Given the description of an element on the screen output the (x, y) to click on. 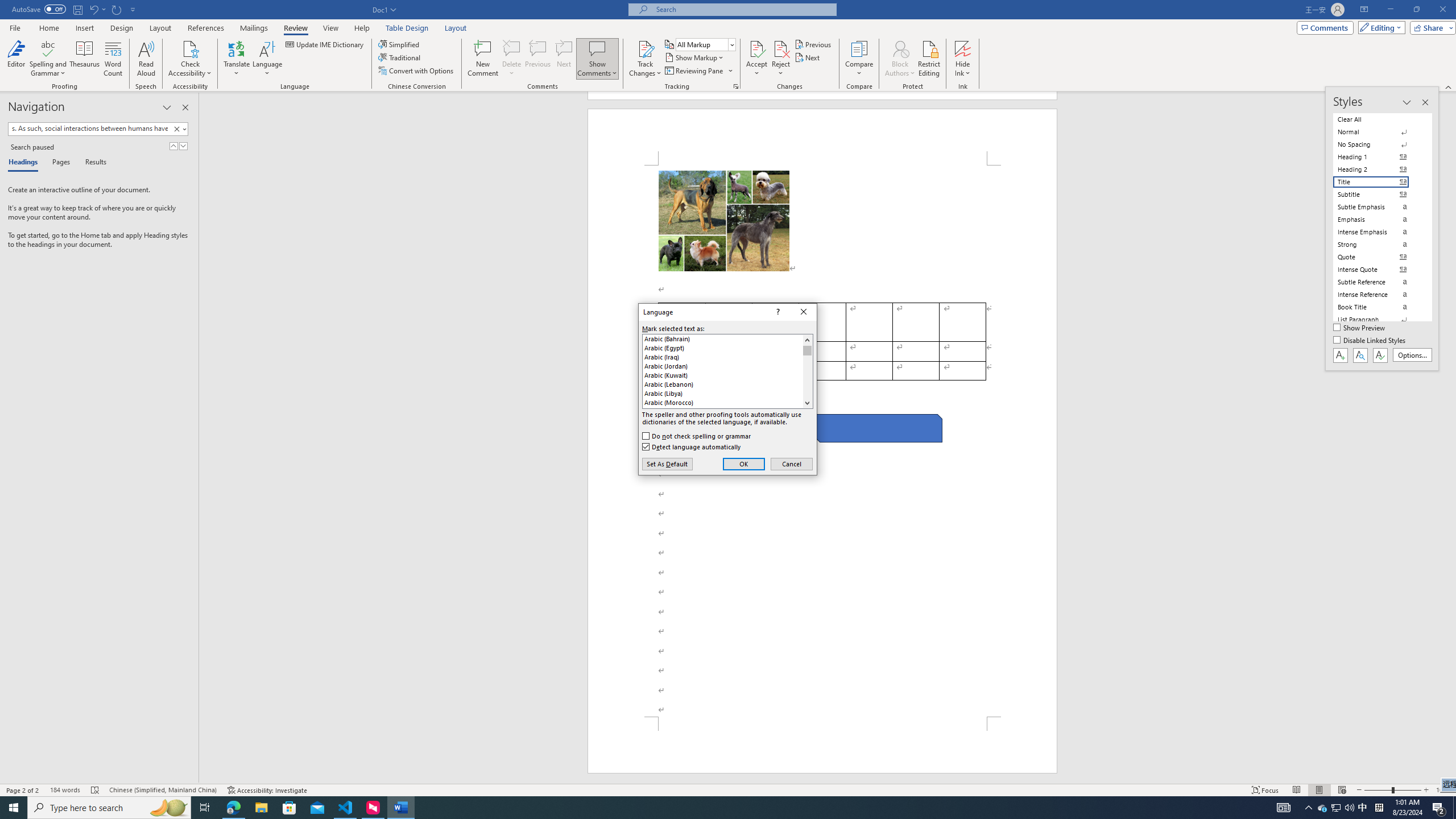
Block Authors (900, 58)
Read Aloud (145, 58)
Line up (807, 339)
Word - 1 running window (400, 807)
Thesaurus... (84, 58)
Normal (1377, 131)
